Given the description of an element on the screen output the (x, y) to click on. 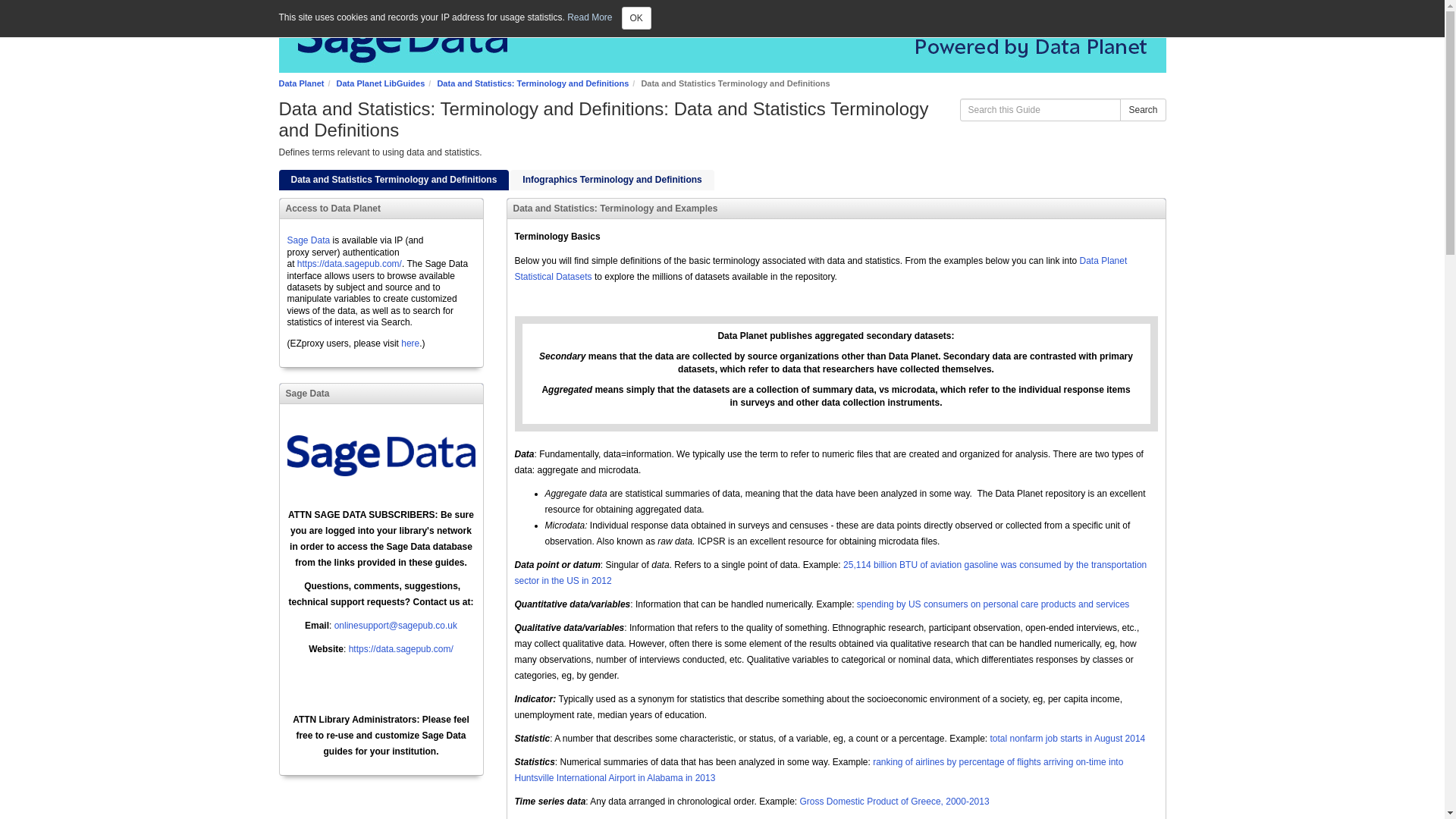
OK (635, 17)
Gross Domestic Product of Greece, 2000-2013 (894, 801)
here (410, 343)
Data and Statistics: Terminology and Definitions (532, 82)
Data Planet (301, 82)
Read More (589, 17)
Data and Statistics Terminology and Definitions (394, 179)
